Given the description of an element on the screen output the (x, y) to click on. 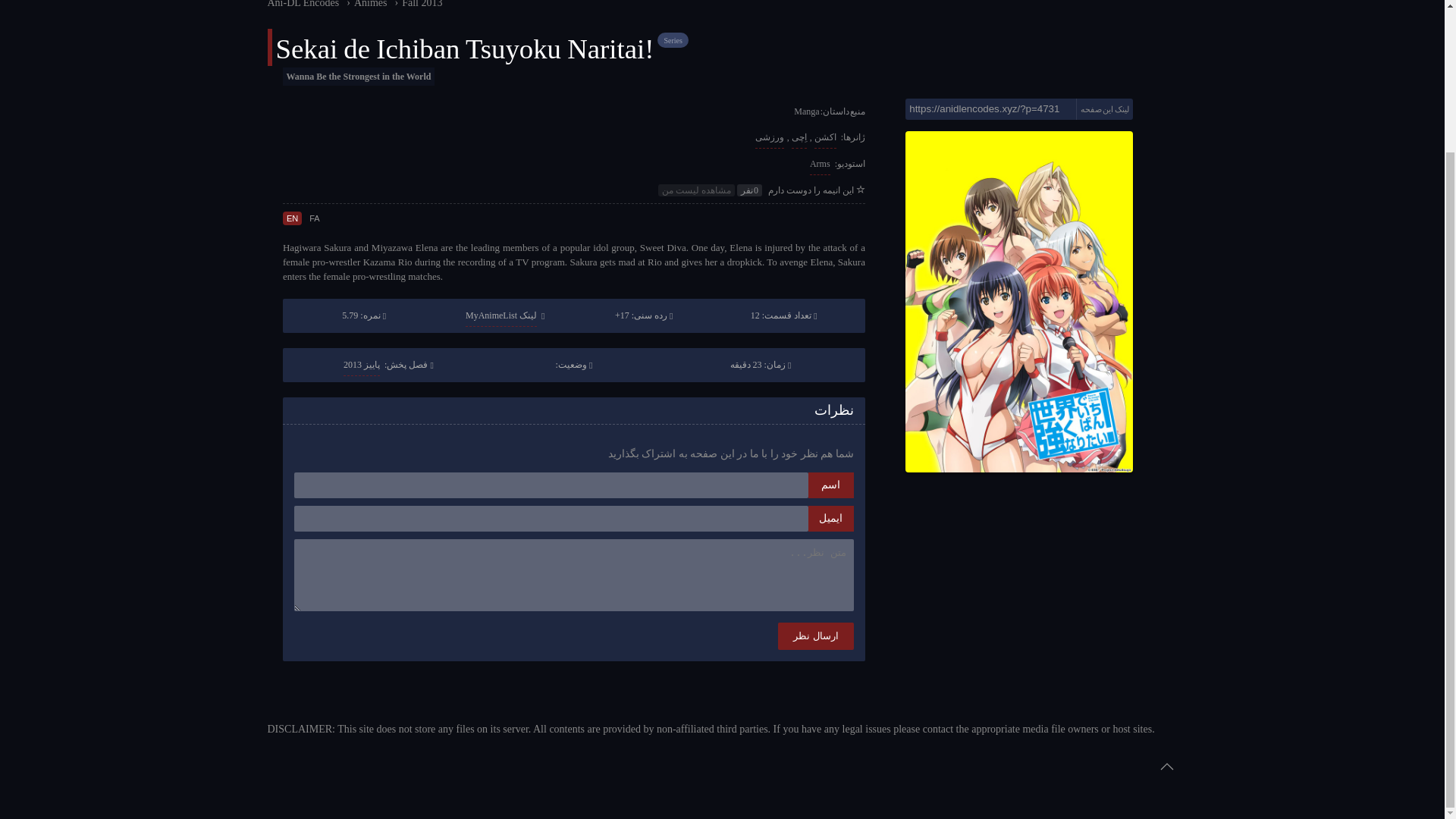
EN (291, 218)
Animes (370, 4)
Arms (819, 164)
Ani-DL Encodes (302, 4)
Fall 2013 (421, 4)
Series (672, 40)
FA (314, 218)
